Given the description of an element on the screen output the (x, y) to click on. 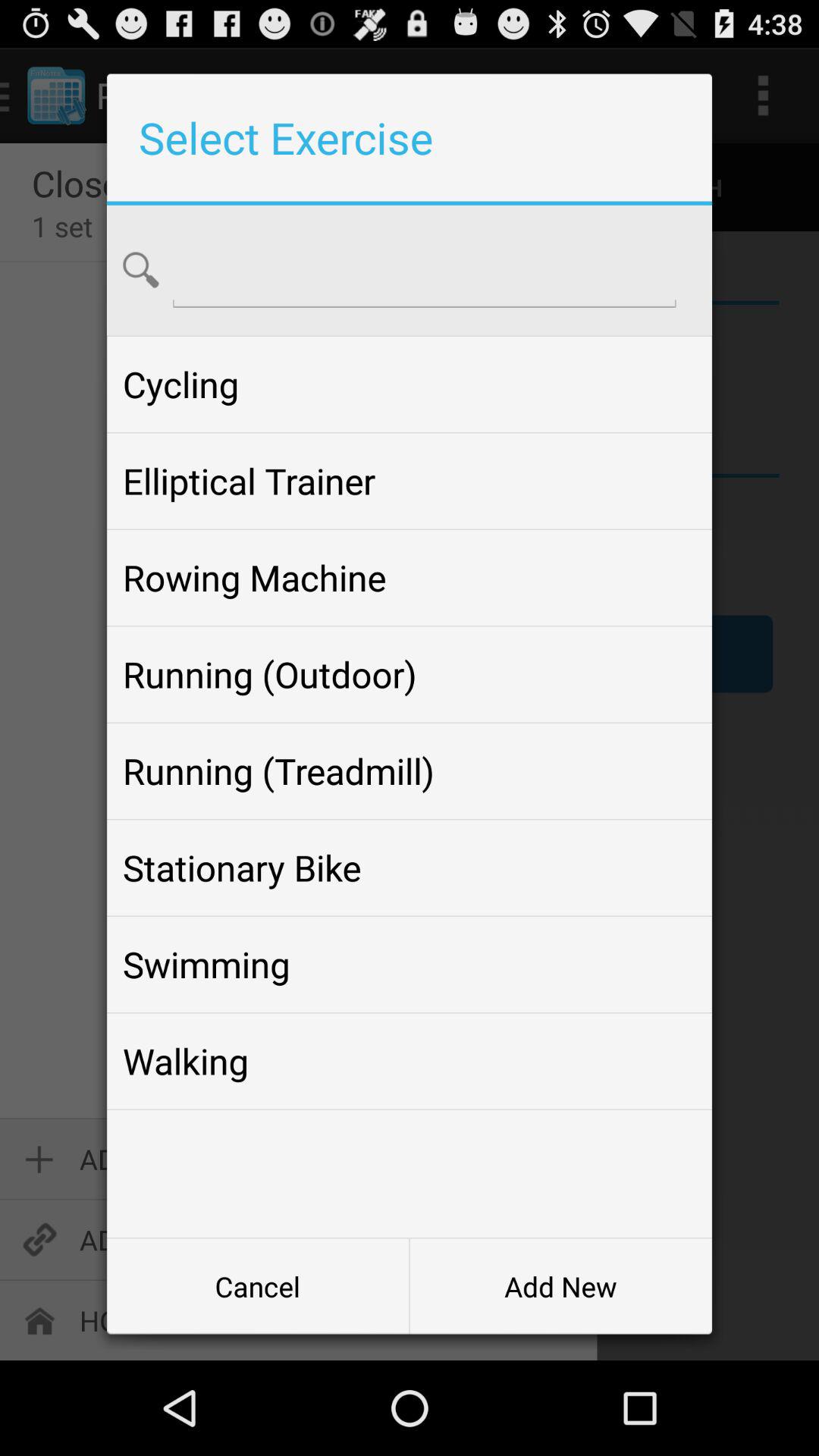
launch the item to the right of the cancel button (561, 1286)
